Given the description of an element on the screen output the (x, y) to click on. 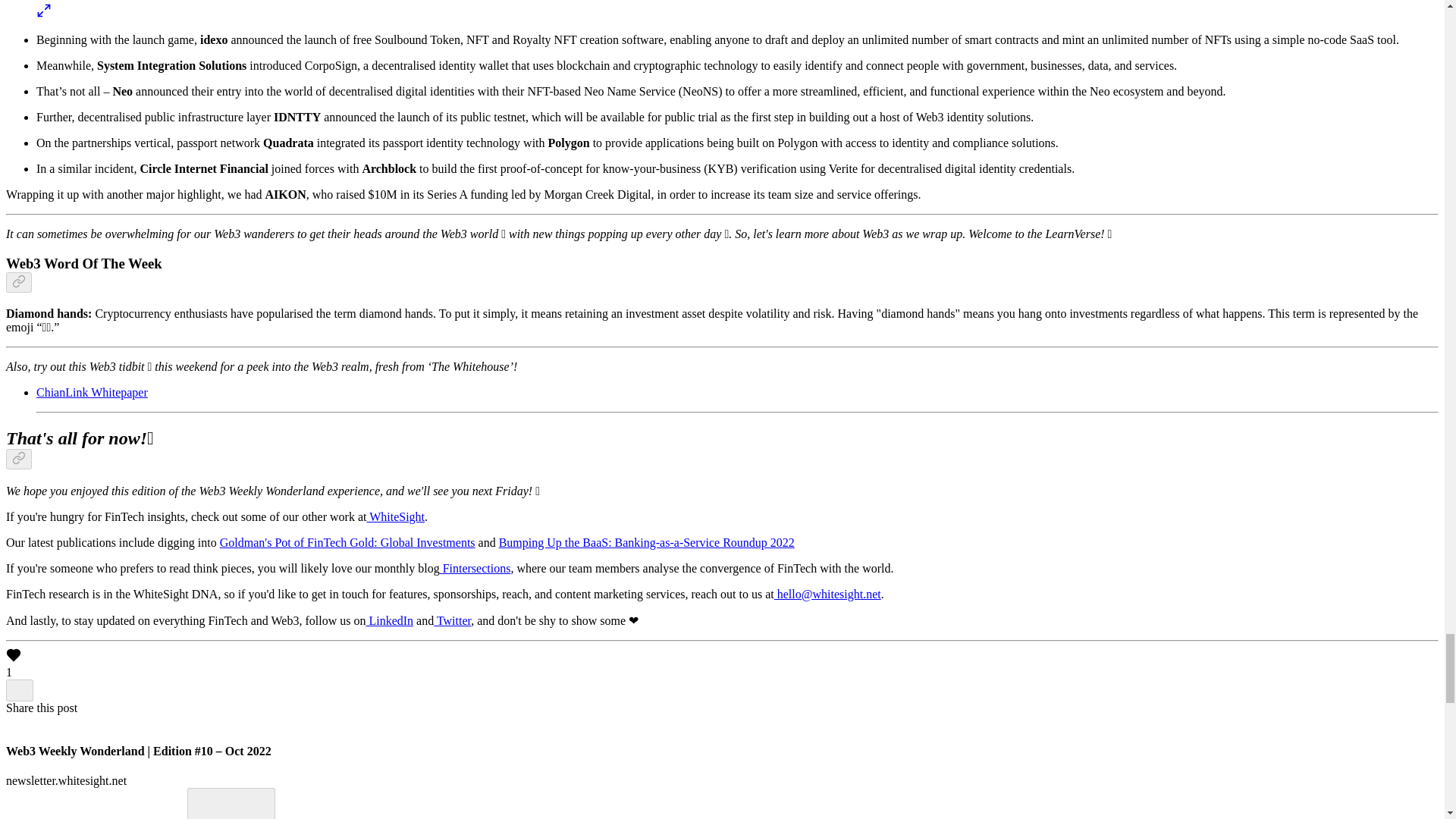
ChianLink Whitepaper (92, 391)
WhiteSight (395, 516)
